Given the description of an element on the screen output the (x, y) to click on. 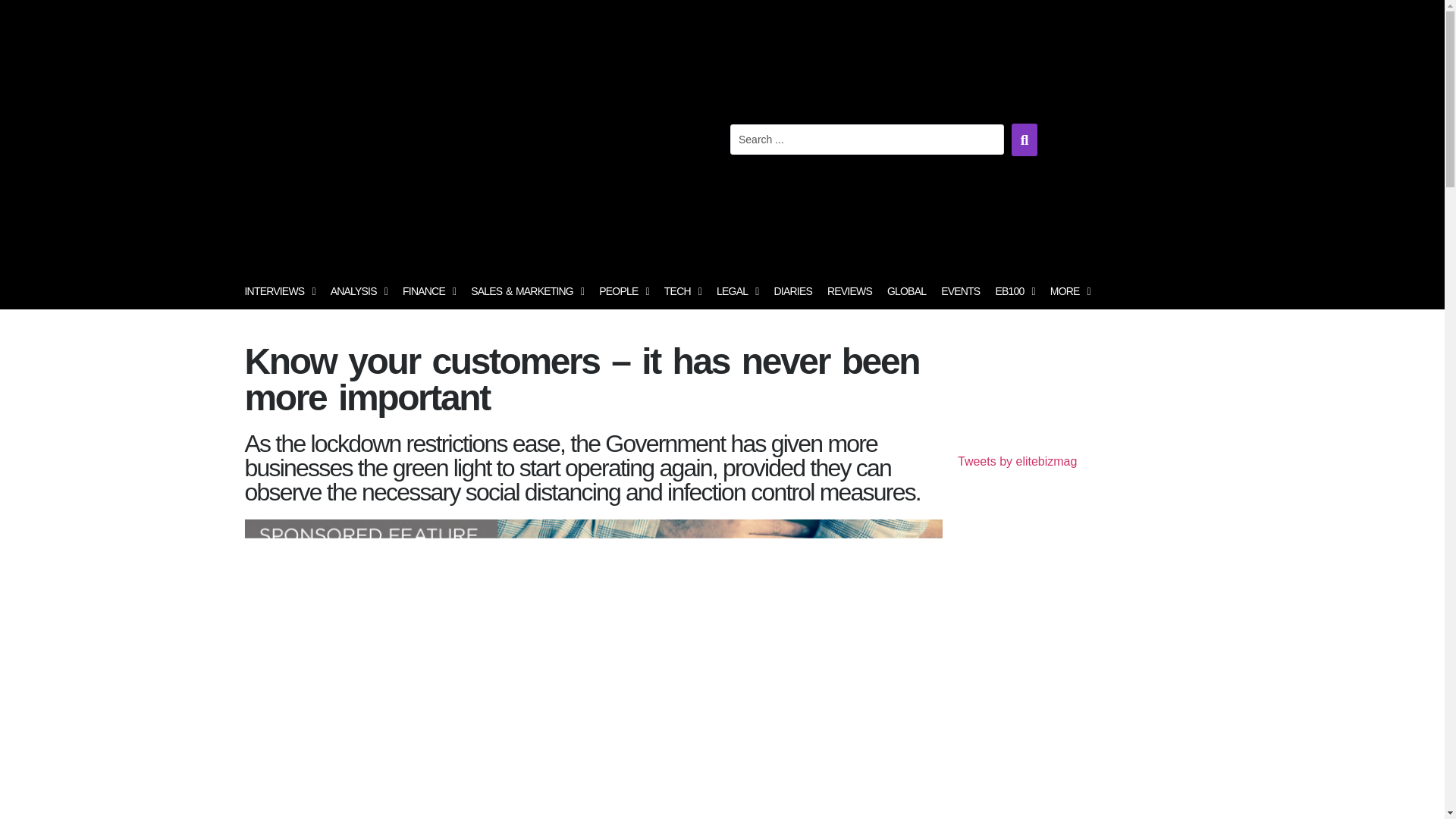
PEOPLE (623, 291)
INTERVIEWS (278, 291)
ANALYSIS (358, 291)
FINANCE (428, 291)
TECH (682, 291)
